Given the description of an element on the screen output the (x, y) to click on. 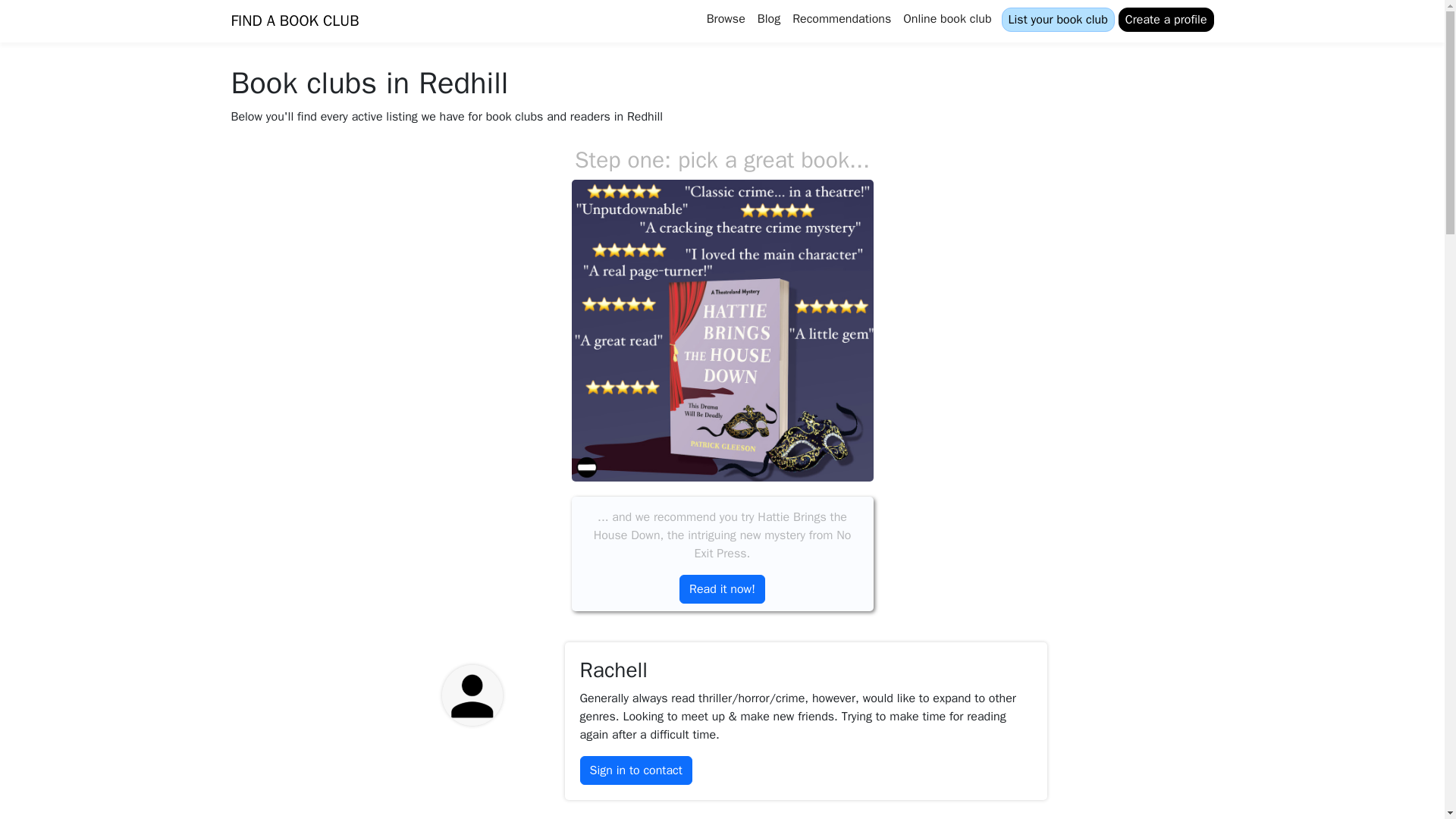
Sign in to contact (635, 769)
FIND A BOOK CLUB (294, 20)
Browse (725, 18)
Online book club (946, 18)
Blog (768, 18)
Recommendations (841, 18)
List your book club (1057, 19)
Create a profile (1166, 19)
